Given the description of an element on the screen output the (x, y) to click on. 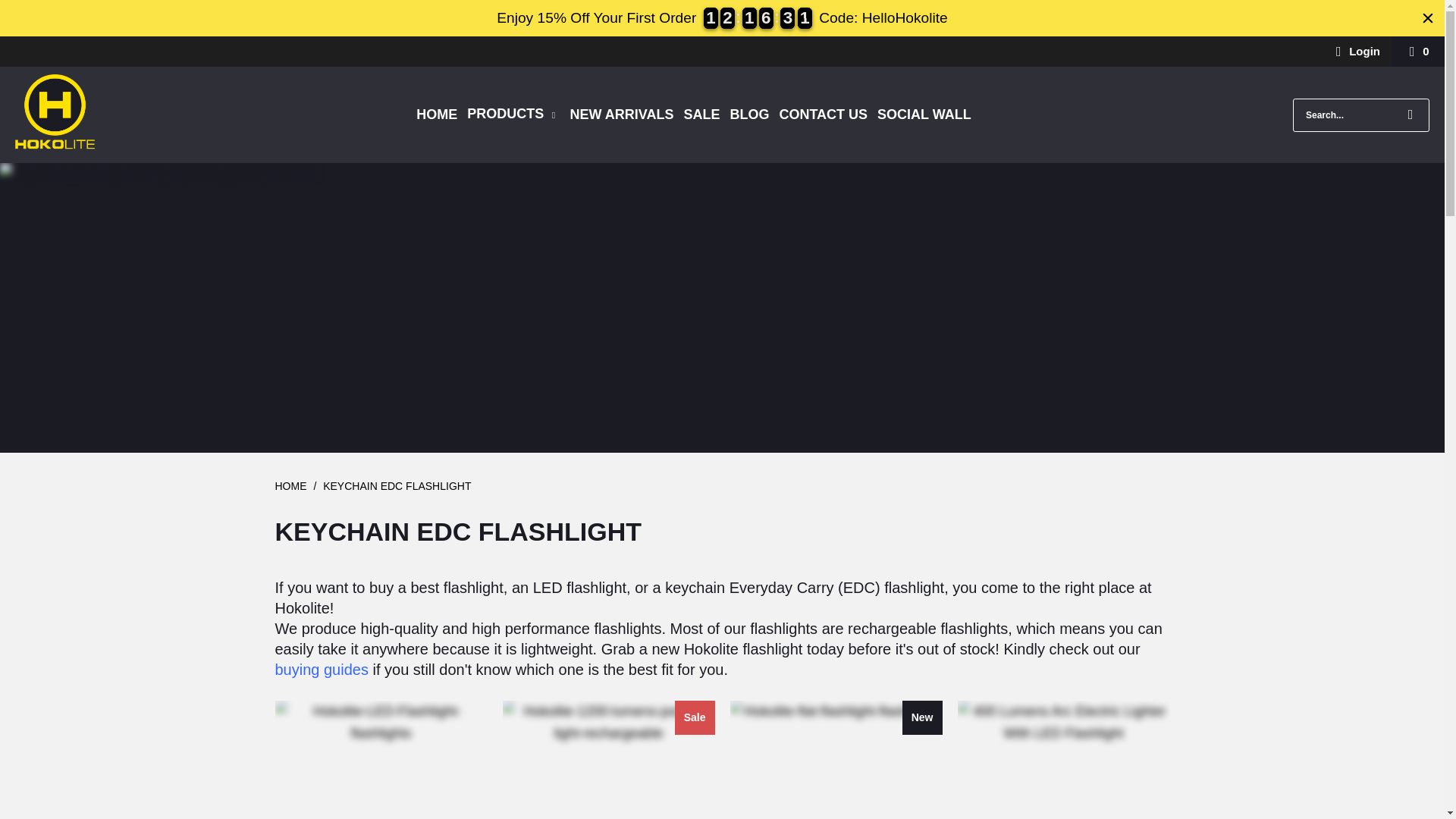
KEYCHAIN EDC FLASHLIGHT (396, 485)
My Account  (1354, 51)
Hokolite (54, 114)
Hokolite (290, 485)
